Given the description of an element on the screen output the (x, y) to click on. 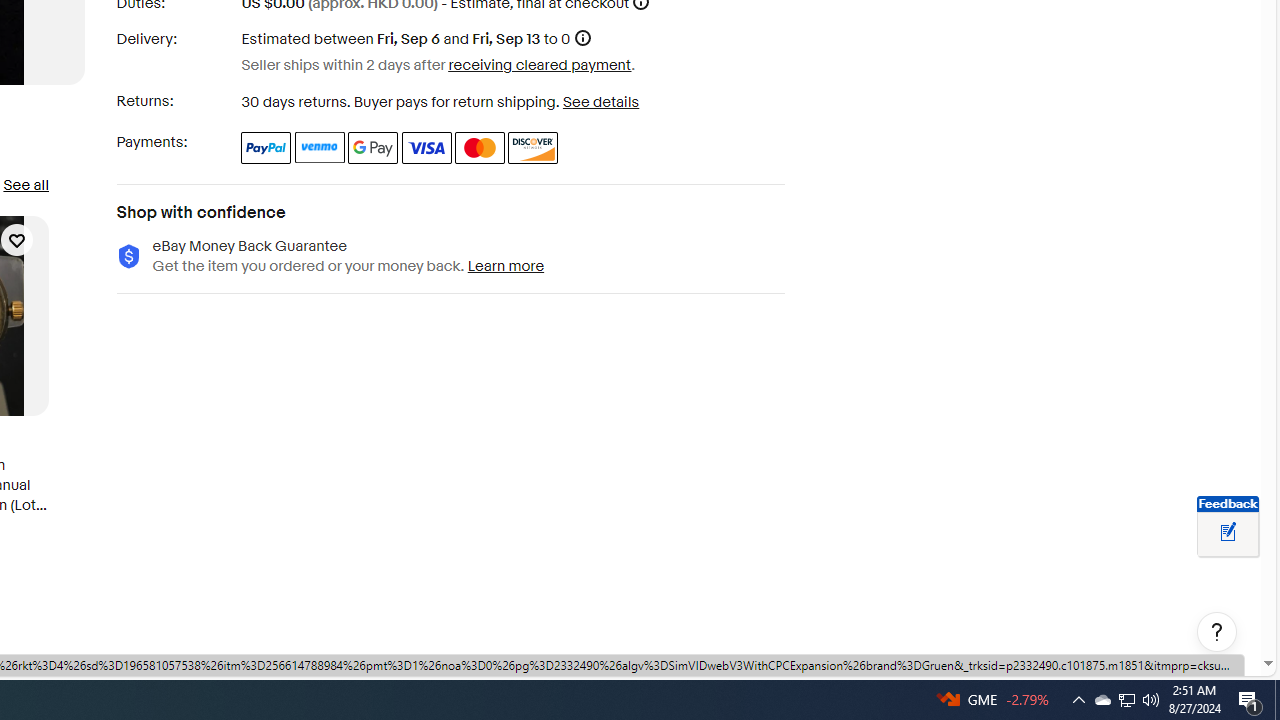
Leave feedback about your eBay ViewItem experience (1227, 533)
Help, opens dialogs (1217, 632)
Venmo (319, 147)
See all (25, 184)
Master Card (479, 147)
Google Pay (373, 147)
See details - for more information about returns (600, 102)
receiving cleared payment (540, 64)
Visa (425, 147)
PayPal (265, 147)
